Given the description of an element on the screen output the (x, y) to click on. 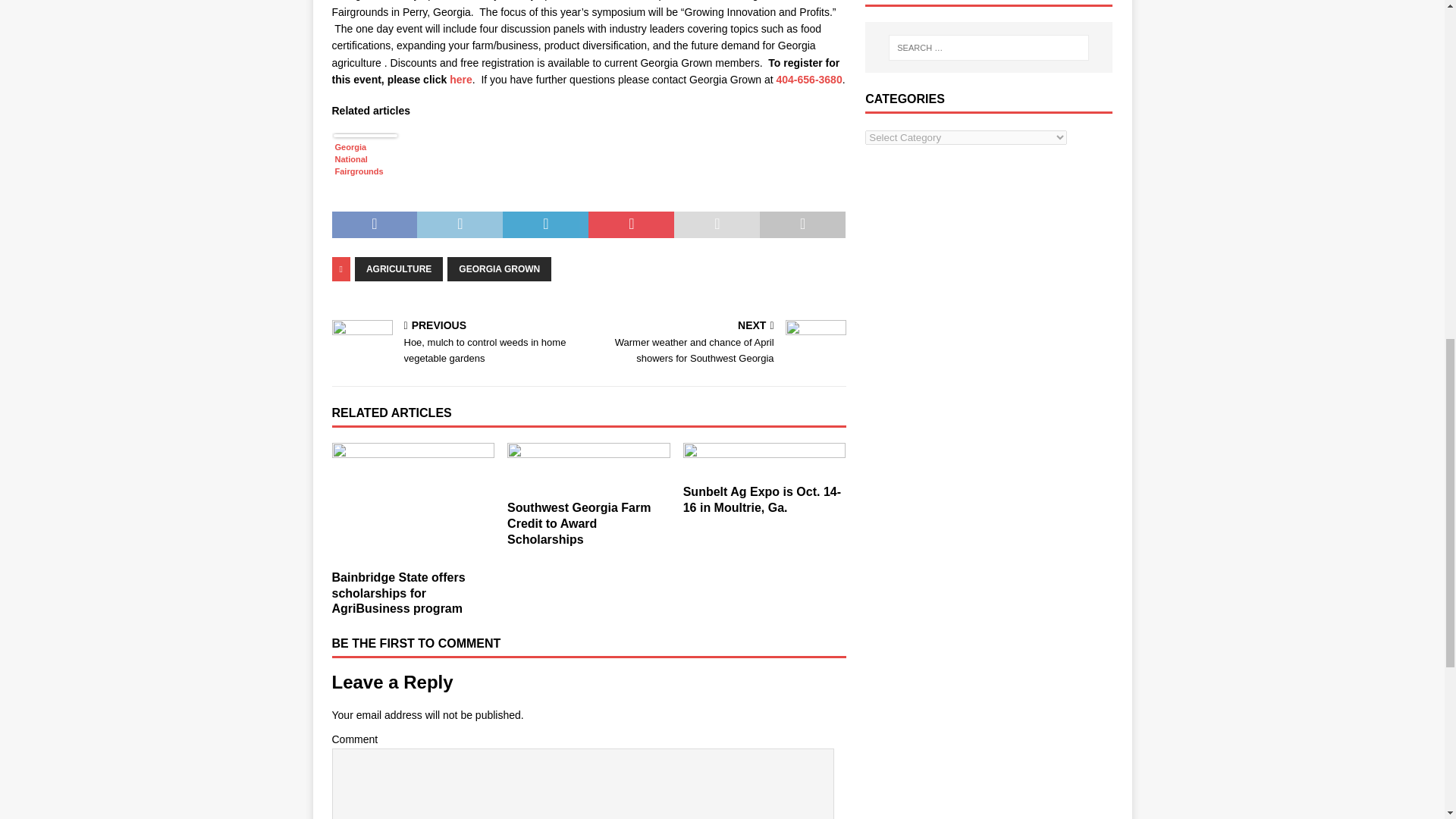
Georgia National Fairgrounds (365, 170)
here (460, 79)
AGRICULTURE (398, 269)
404-656-3680 (809, 79)
